Given the description of an element on the screen output the (x, y) to click on. 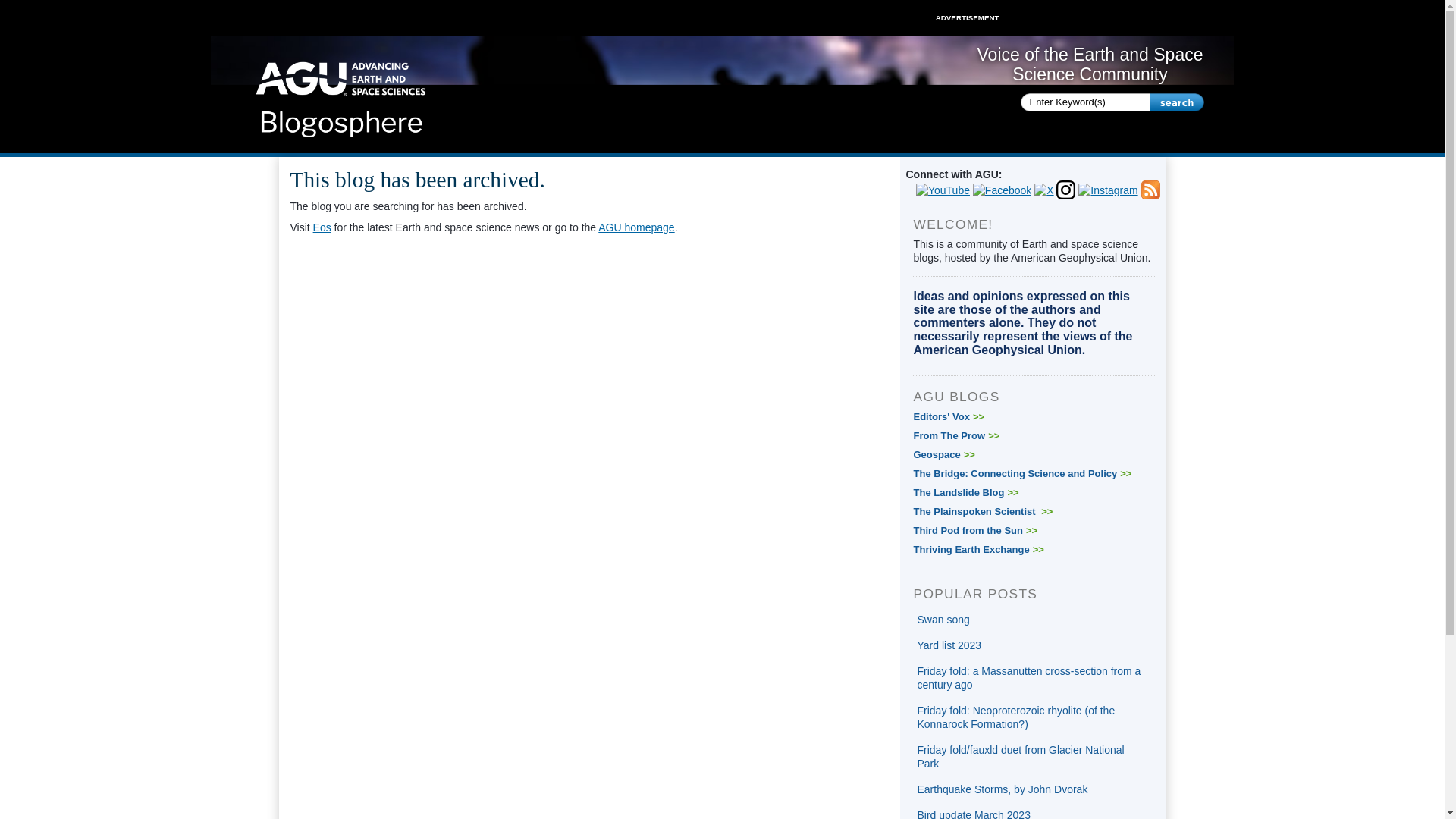
Swan song (943, 619)
Earthquake Storms, by John Dvorak (1002, 788)
Yard list 2023 (949, 645)
Eos (322, 227)
Friday fold: a Massanutten cross-section from a century ago (1029, 678)
Bird update March 2023 (973, 814)
Yard list 2023 (949, 645)
AGU homepage (636, 227)
Swan song (943, 619)
Home (341, 94)
